Given the description of an element on the screen output the (x, y) to click on. 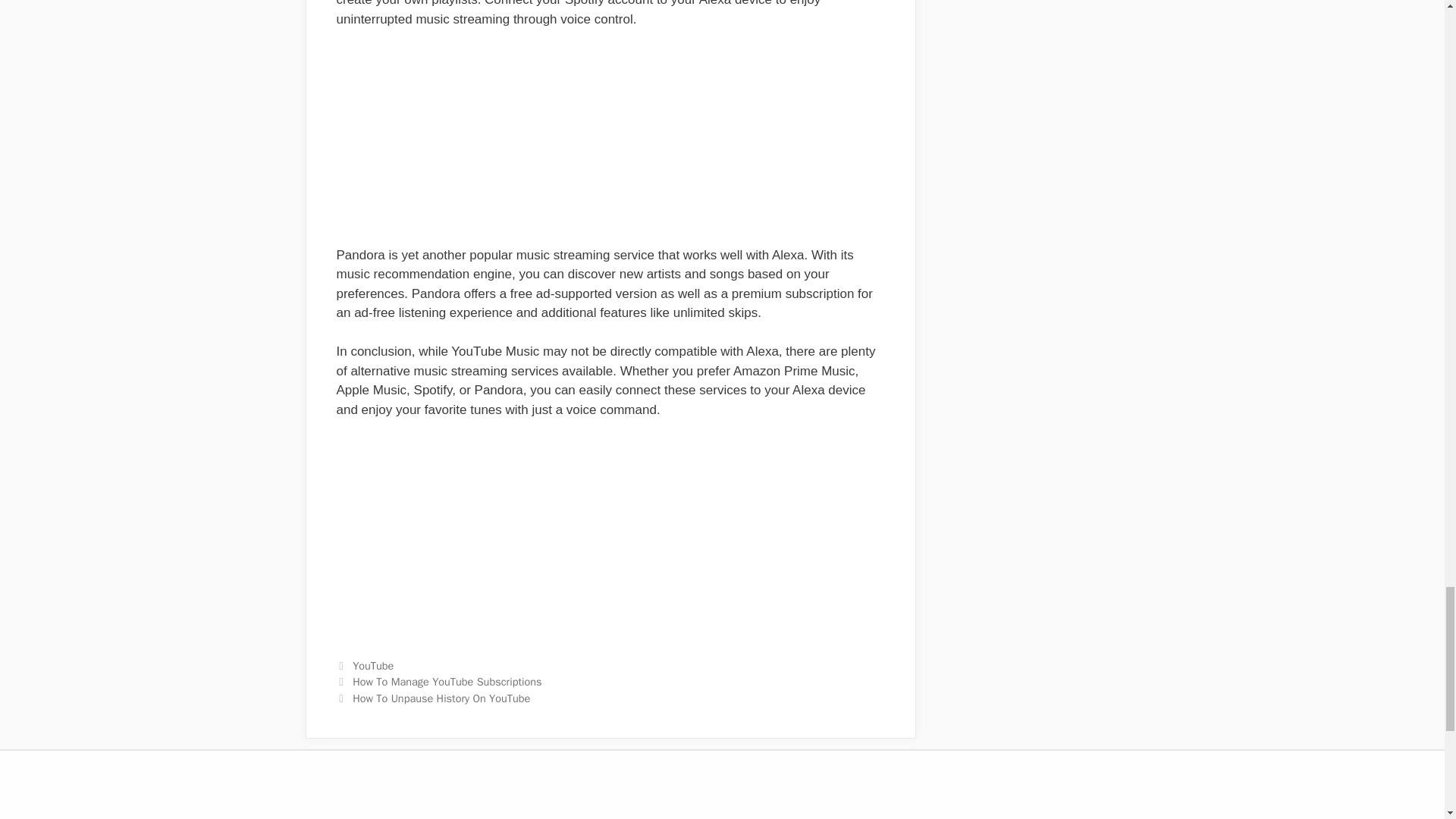
How To Manage YouTube Subscriptions (446, 681)
YouTube (372, 665)
How To Unpause History On YouTube (440, 698)
